Given the description of an element on the screen output the (x, y) to click on. 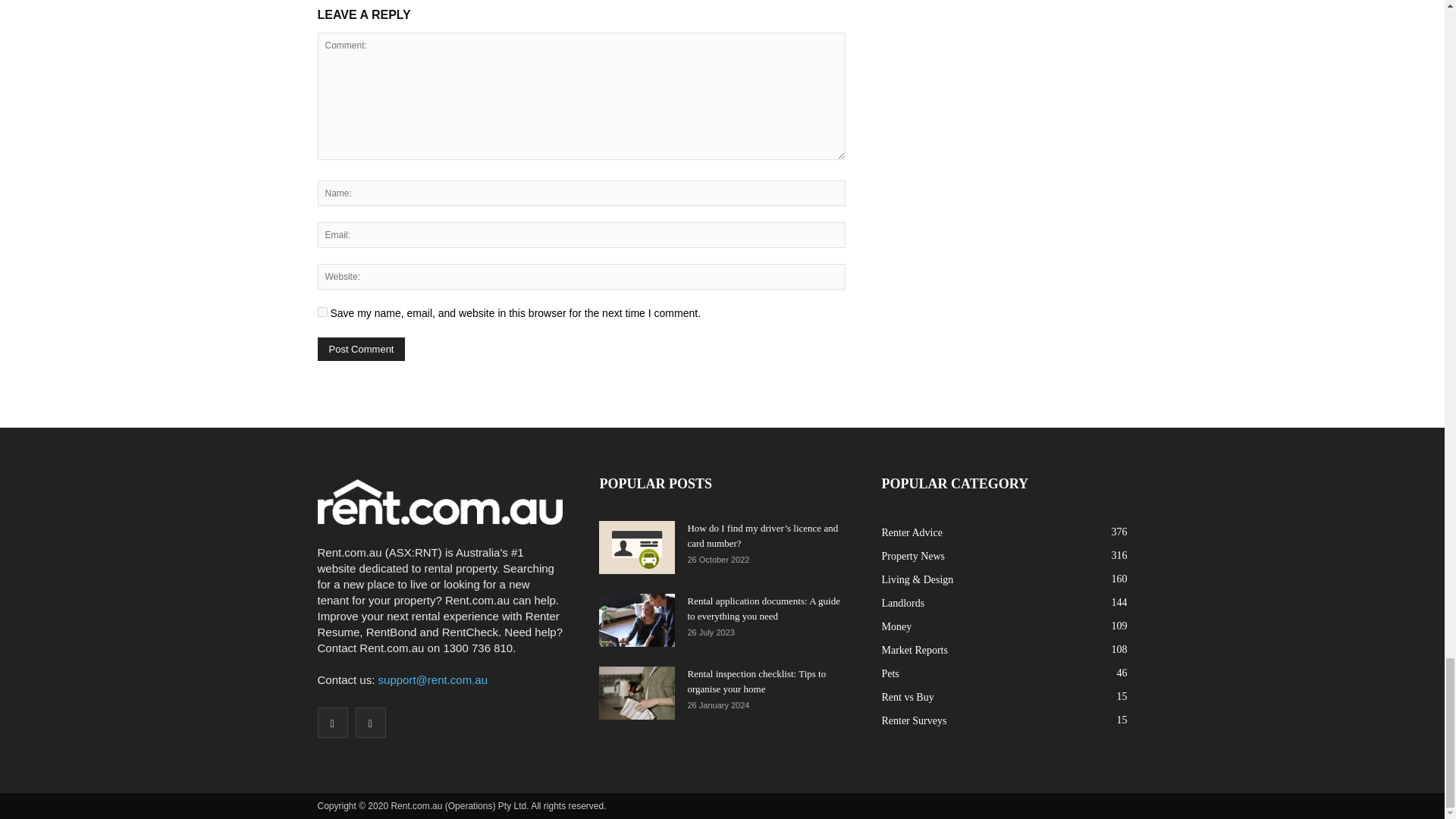
yes (321, 311)
Post Comment (360, 349)
